Given the description of an element on the screen output the (x, y) to click on. 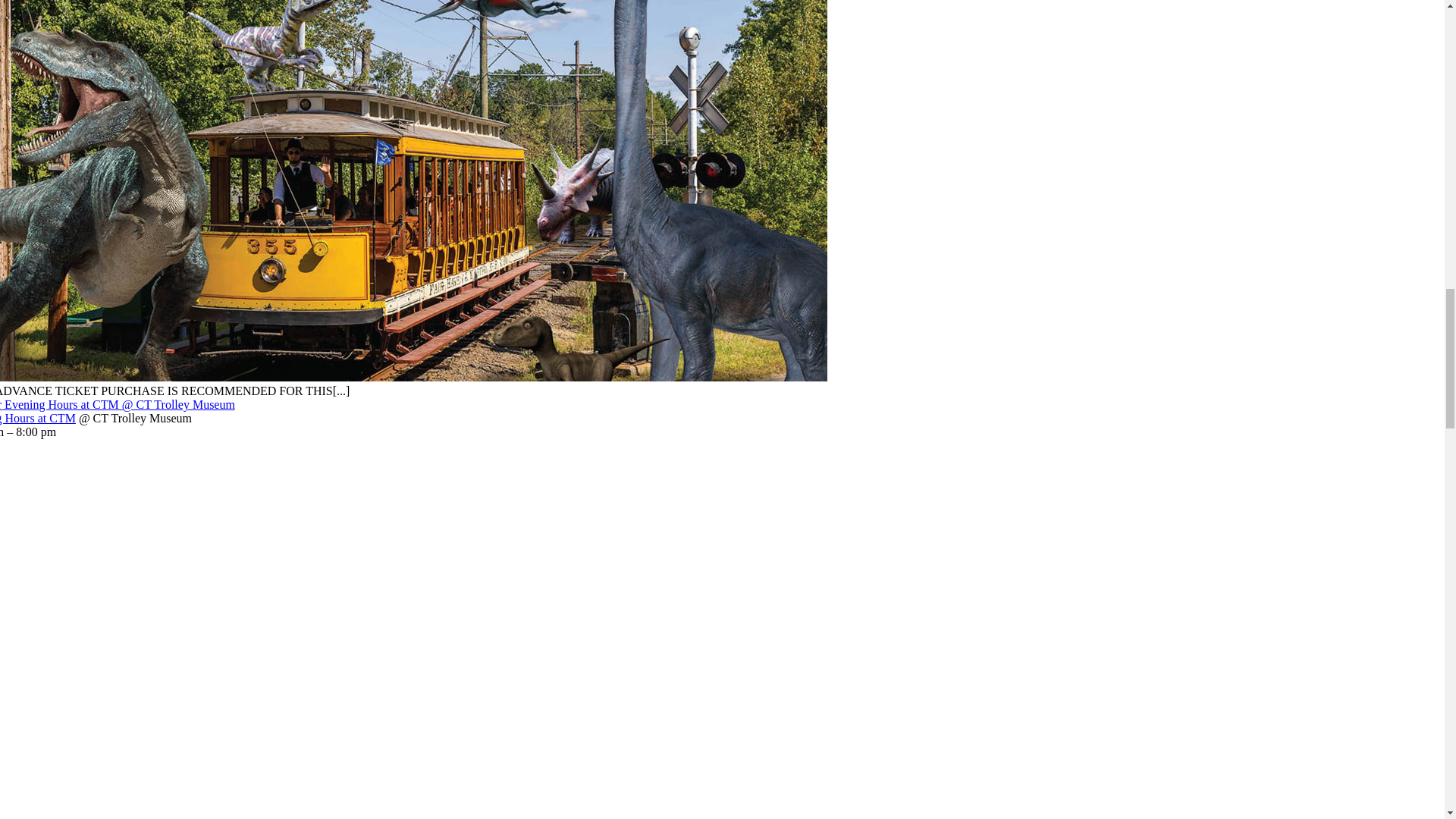
Summer Evening Hours at CTM (37, 418)
